Given the description of an element on the screen output the (x, y) to click on. 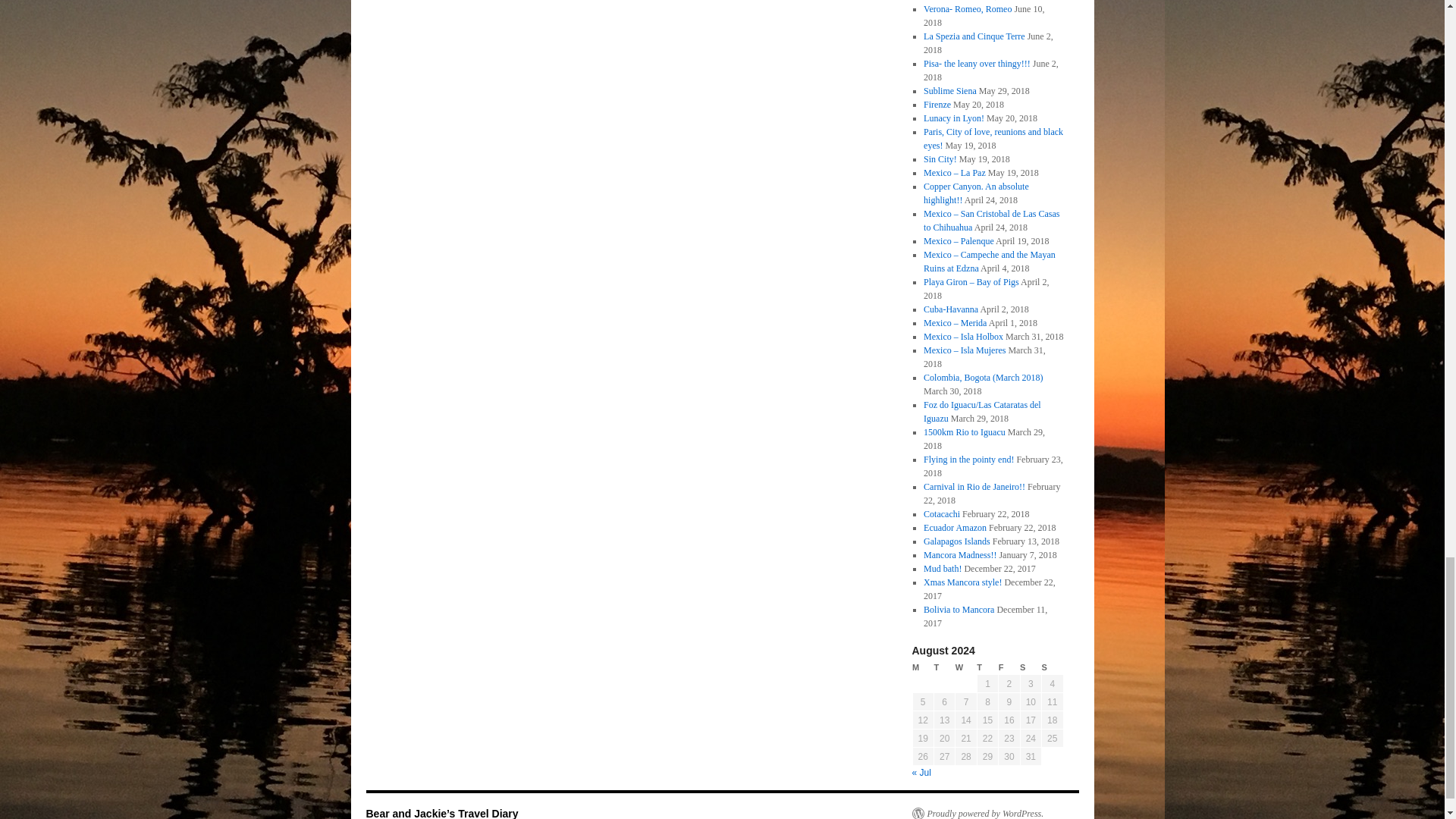
Monday (922, 667)
Thursday (986, 667)
Tuesday (944, 667)
Wednesday (965, 667)
Saturday (1030, 667)
Friday (1009, 667)
Sunday (1052, 667)
